Given the description of an element on the screen output the (x, y) to click on. 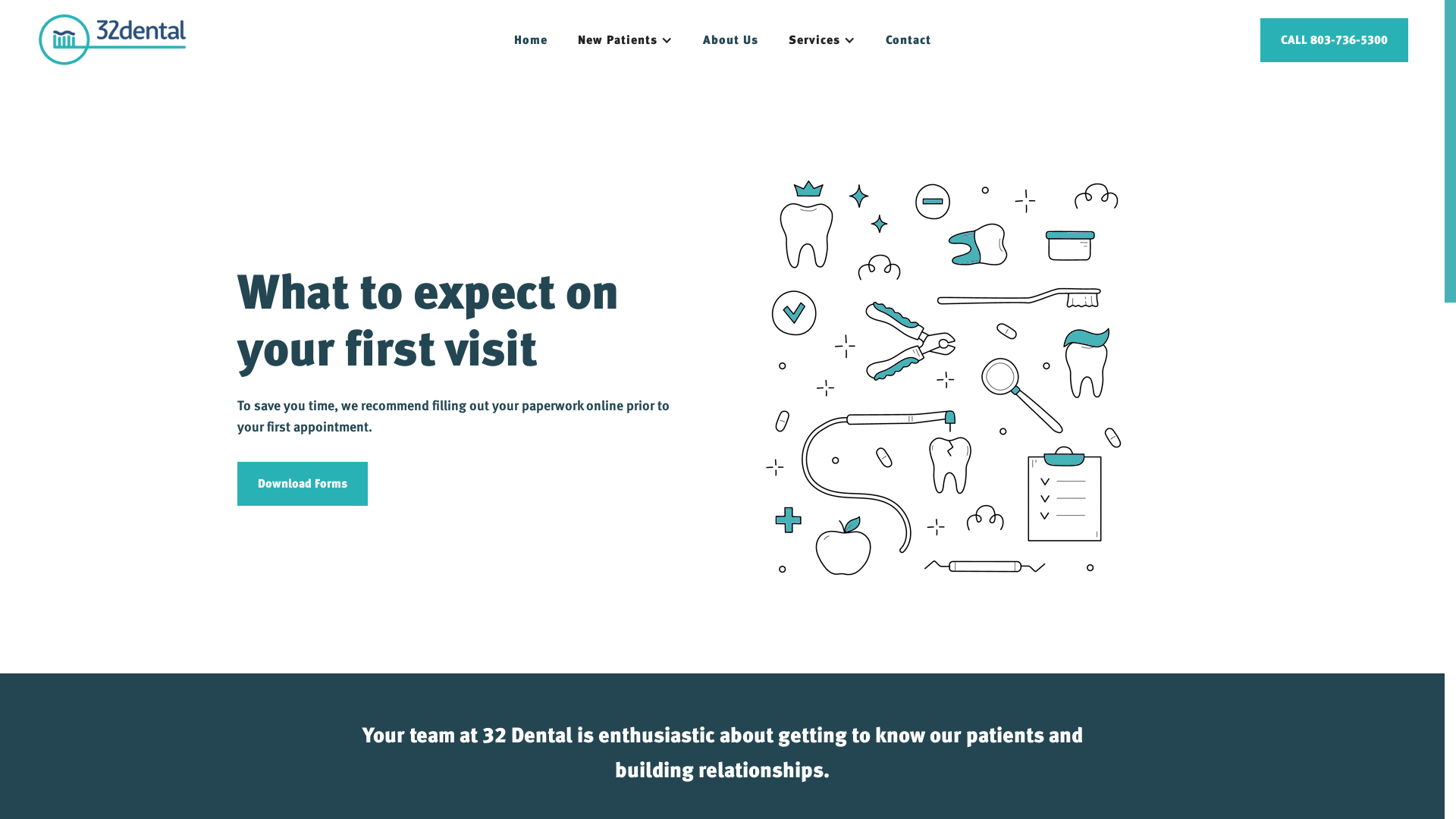
Contact Element type: text (908, 39)
About Us Element type: text (729, 39)
Home Element type: text (530, 39)
Download Forms Element type: text (301, 483)
CALL 803-736-5300 Element type: text (1334, 40)
